Given the description of an element on the screen output the (x, y) to click on. 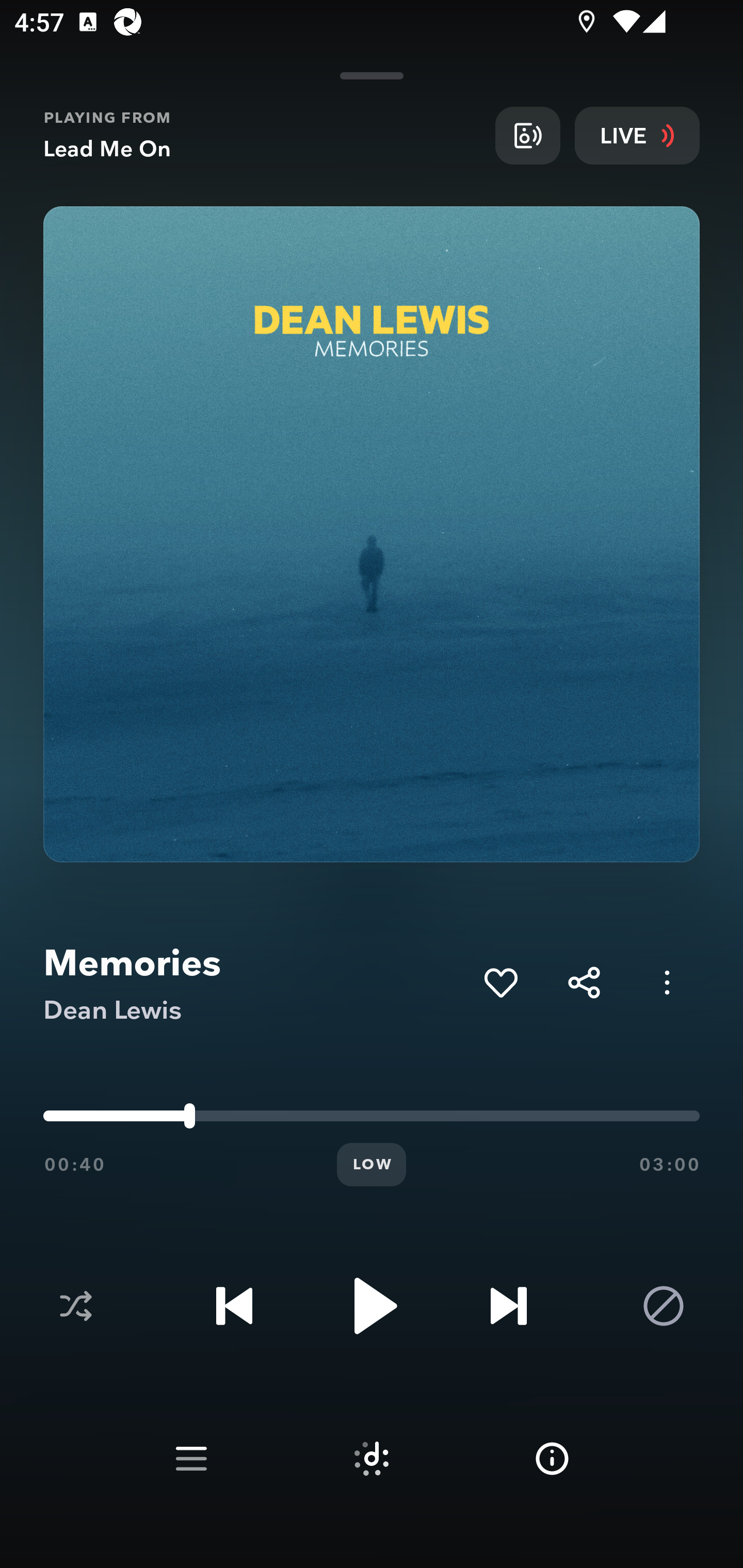
Broadcast (527, 135)
LIVE (637, 135)
PLAYING FROM Lead Me On (261, 135)
Memories Dean Lewis (255, 983)
Add to My Collection (500, 982)
Share (583, 982)
Options (666, 982)
LOW (371, 1164)
Play (371, 1306)
Previous (234, 1306)
Next (508, 1306)
Block (663, 1306)
Shuffle disabled (75, 1306)
Play queue (191, 1458)
Suggested tracks (371, 1458)
Info (551, 1458)
